Given the description of an element on the screen output the (x, y) to click on. 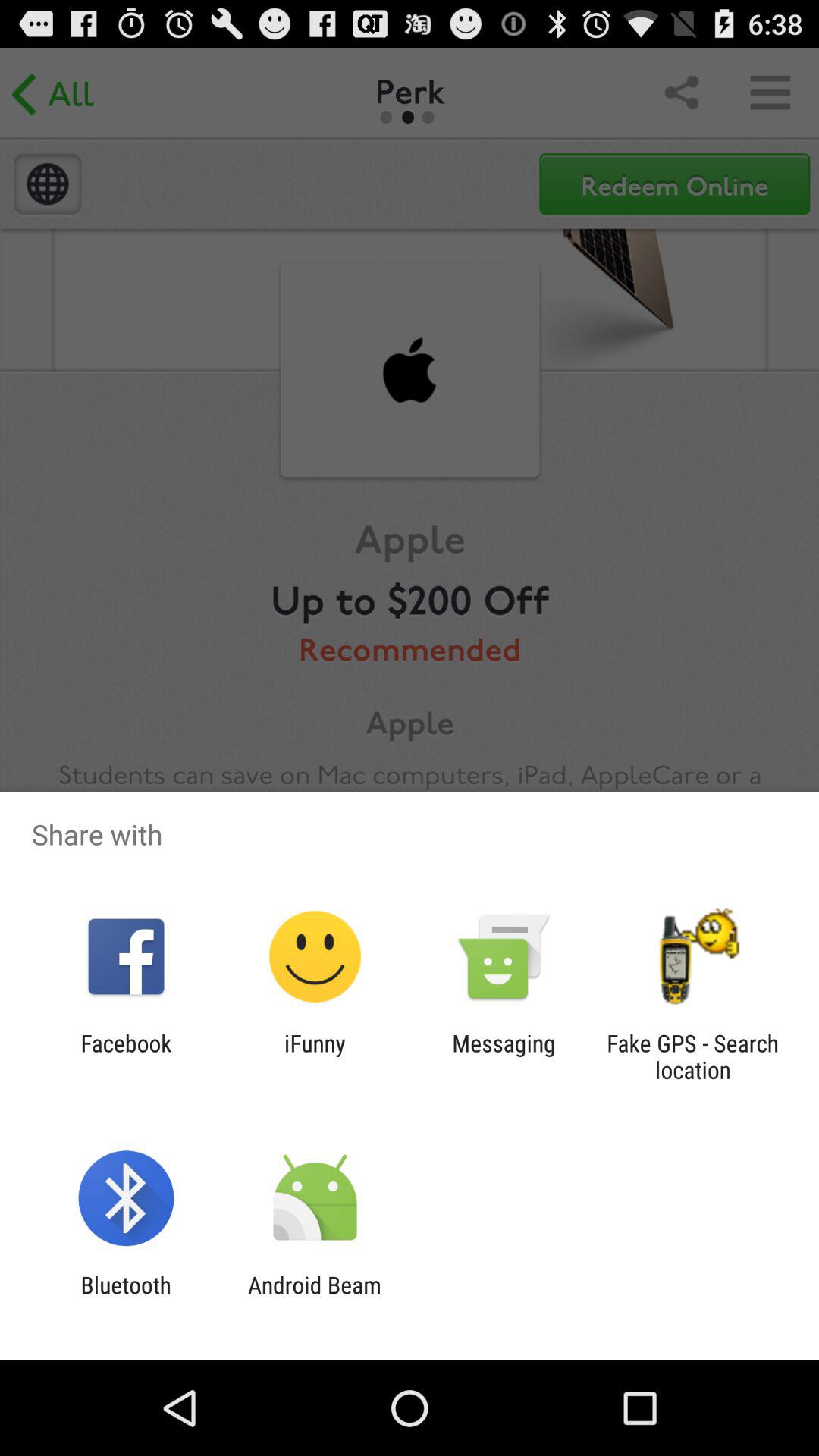
flip until facebook (125, 1056)
